Given the description of an element on the screen output the (x, y) to click on. 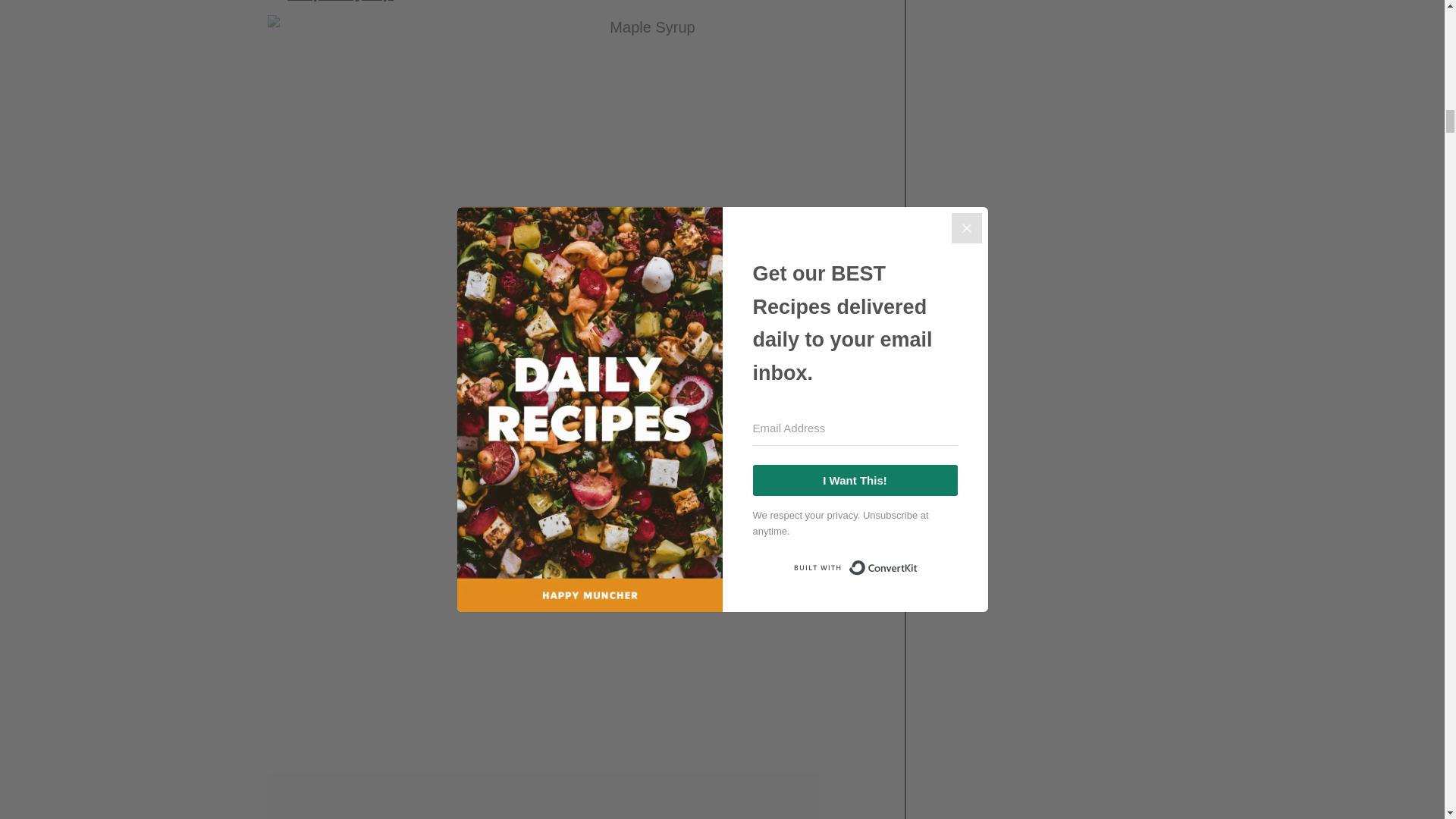
Maple syrup (339, 0)
